Given the description of an element on the screen output the (x, y) to click on. 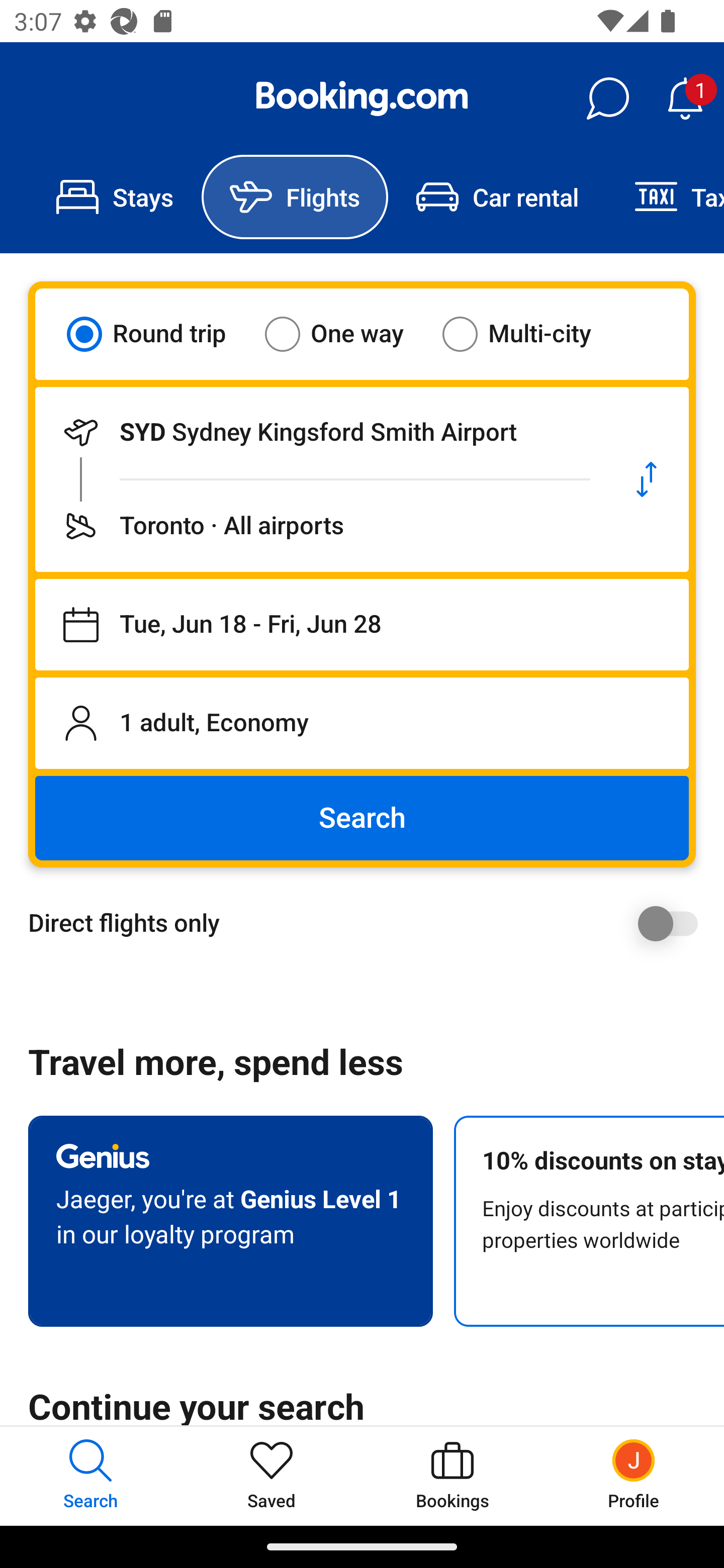
Messages (607, 98)
Notifications (685, 98)
Stays (114, 197)
Flights (294, 197)
Car rental (497, 197)
Taxi (665, 197)
One way (346, 333)
Multi-city (528, 333)
Departing from SYD Sydney Kingsford Smith Airport (319, 432)
Swap departure location and destination (646, 479)
Flying to Toronto · All airports (319, 525)
Departing on Tue, Jun 18, returning on Fri, Jun 28 (361, 624)
1 adult, Economy (361, 722)
Search (361, 818)
Direct flights only (369, 923)
Saved (271, 1475)
Bookings (452, 1475)
Profile (633, 1475)
